Given the description of an element on the screen output the (x, y) to click on. 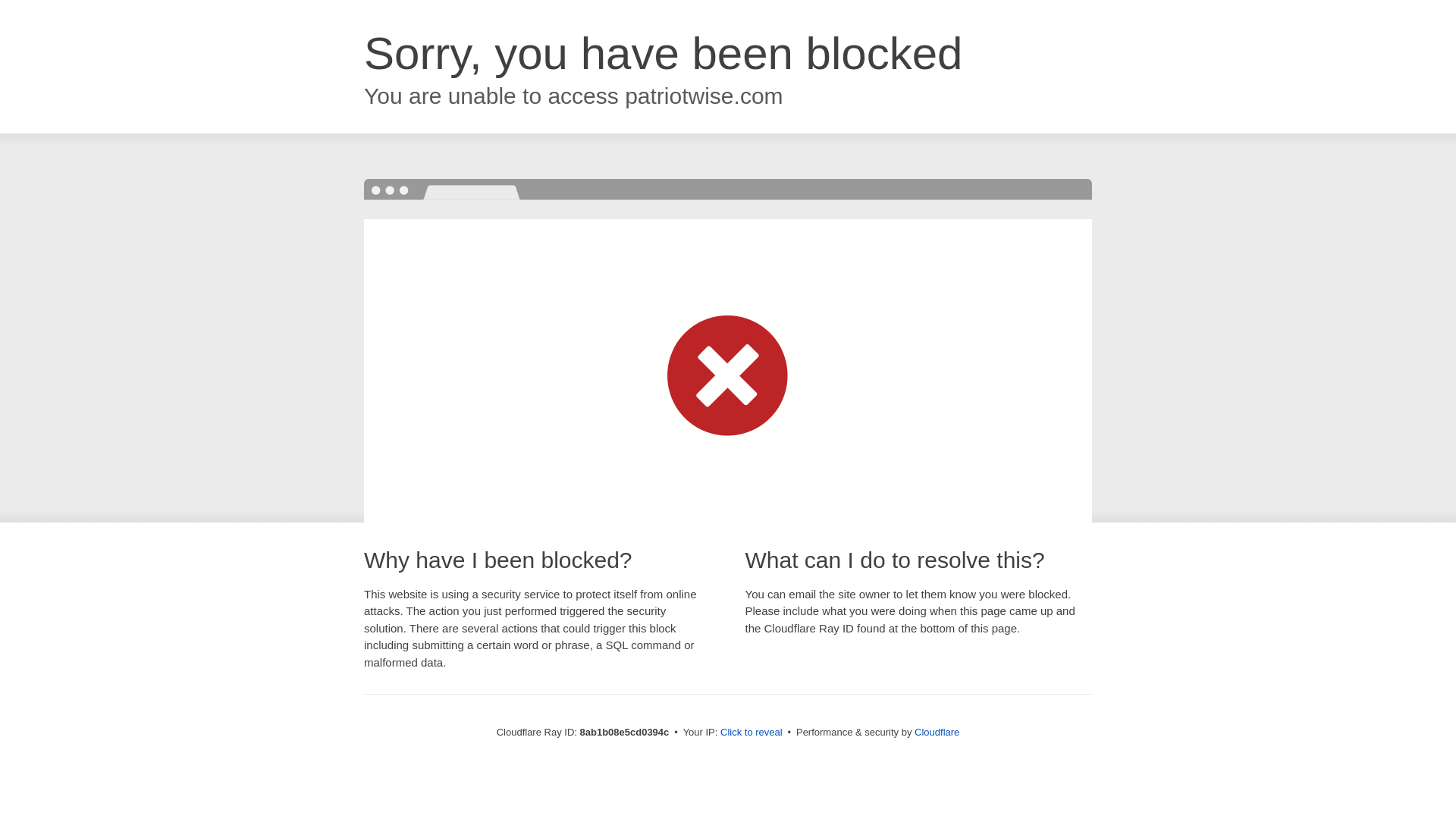
Cloudflare (936, 731)
Click to reveal (751, 732)
